Given the description of an element on the screen output the (x, y) to click on. 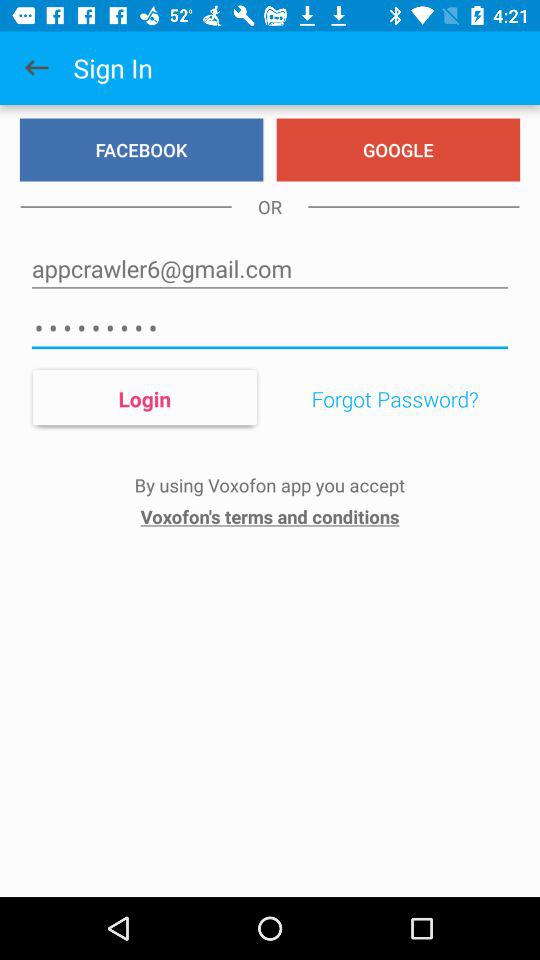
open icon below or (269, 268)
